Given the description of an element on the screen output the (x, y) to click on. 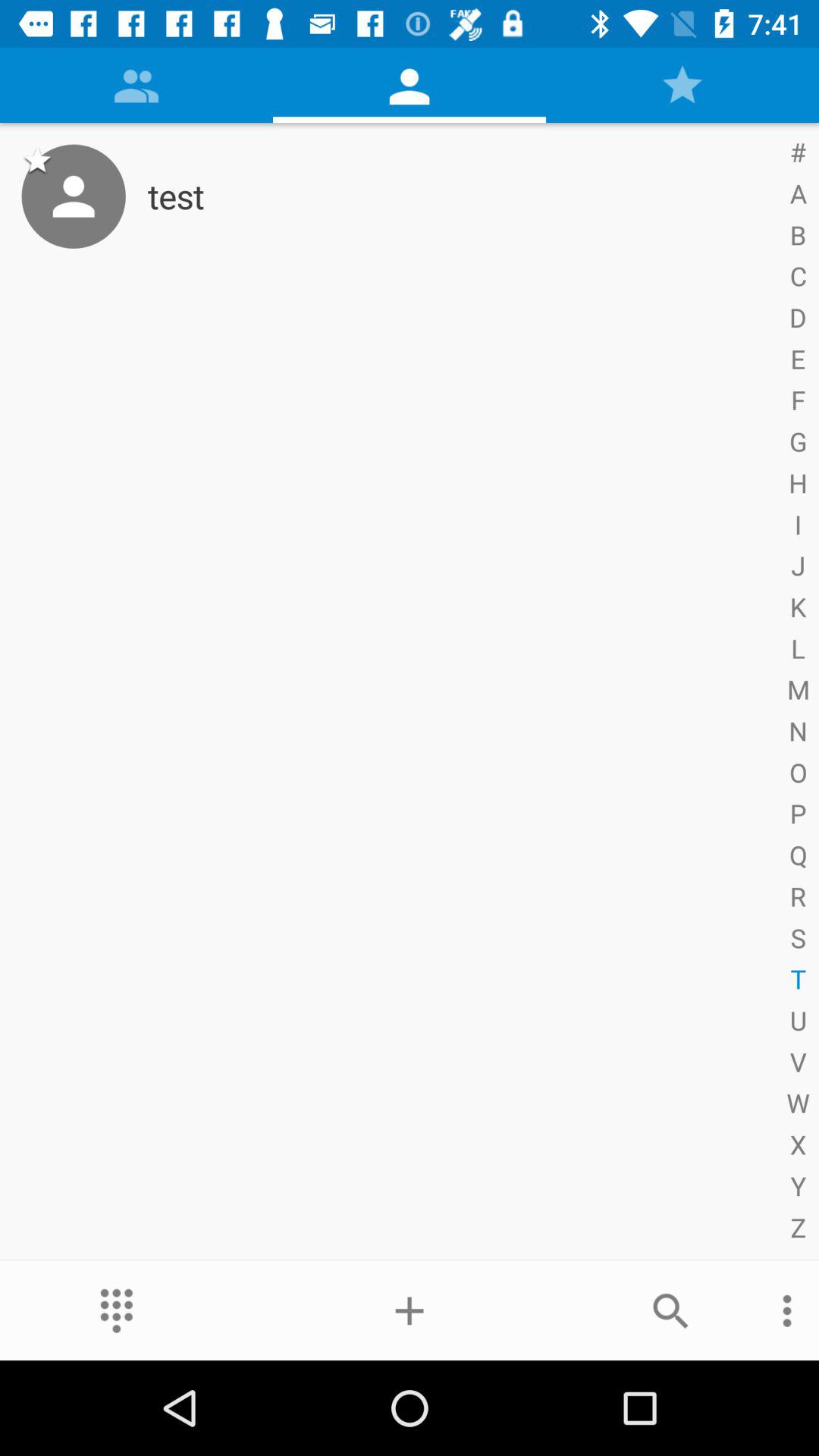
turn on the item at the bottom left corner (116, 1310)
